Given the description of an element on the screen output the (x, y) to click on. 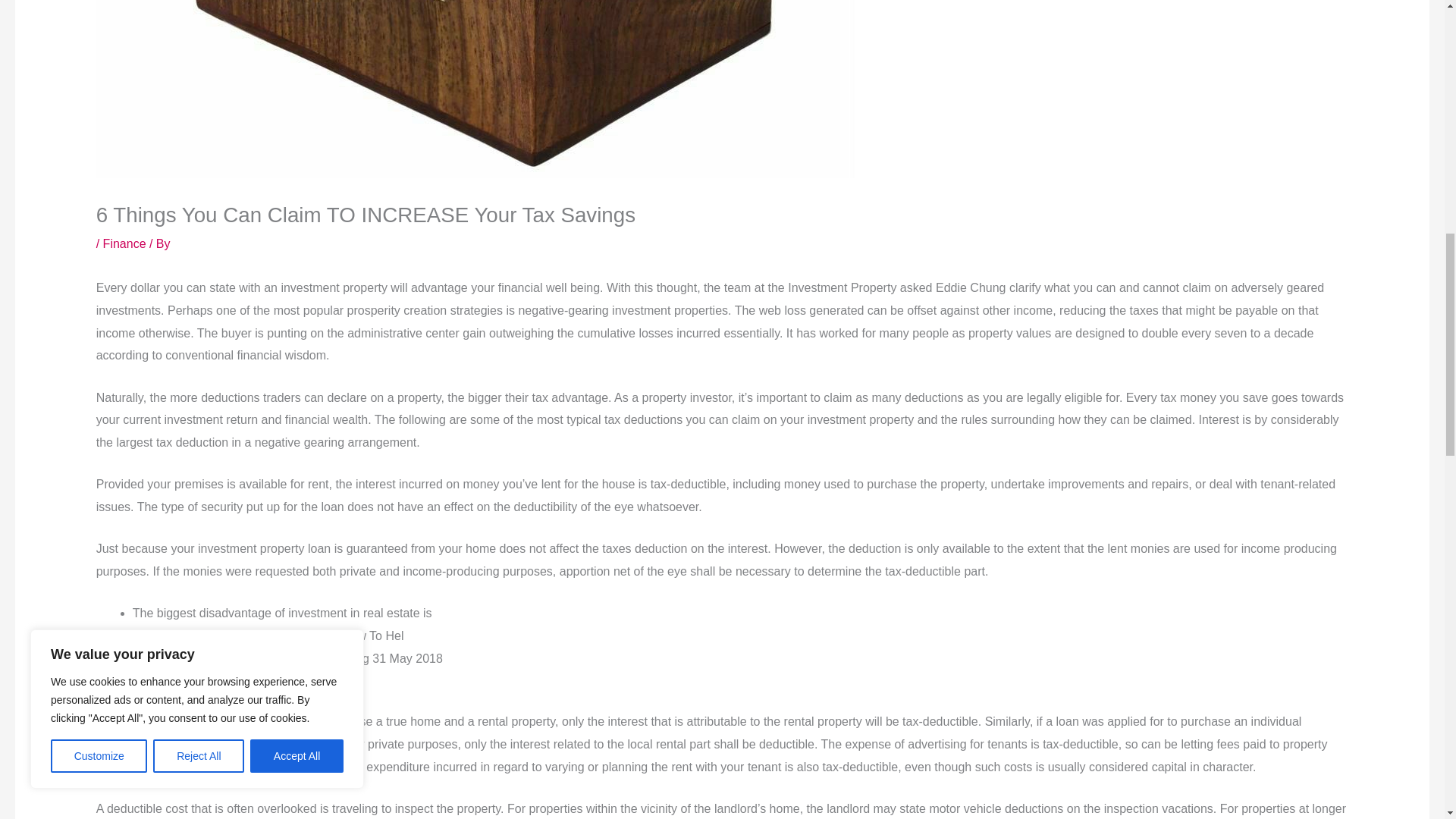
Finance (125, 243)
